Given the description of an element on the screen output the (x, y) to click on. 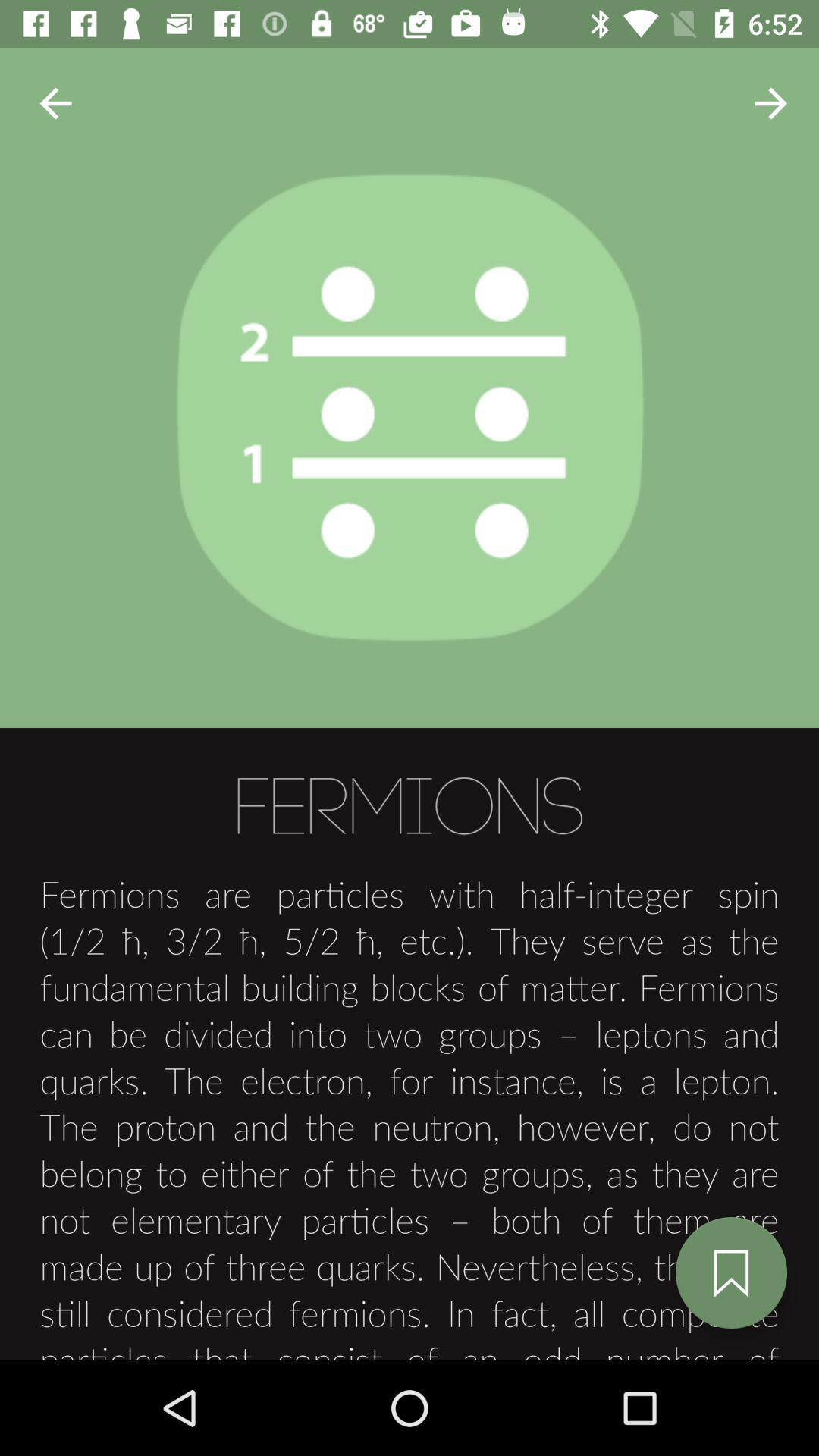
favorite article (731, 1272)
